Given the description of an element on the screen output the (x, y) to click on. 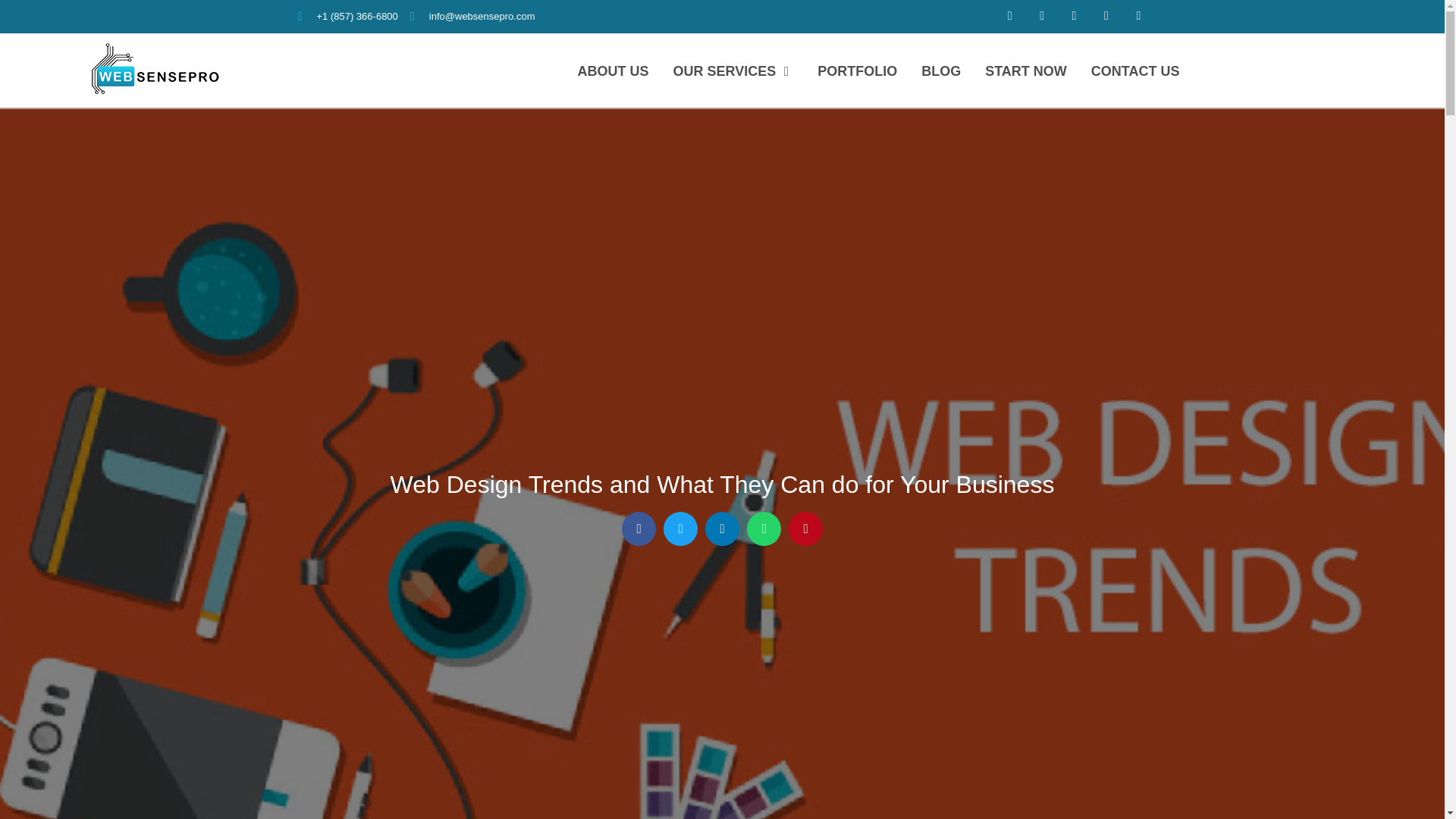
BLOG (940, 71)
CONTACT US (1134, 71)
PORTFOLIO (856, 71)
START NOW (1026, 71)
ABOUT US (611, 71)
